Given the description of an element on the screen output the (x, y) to click on. 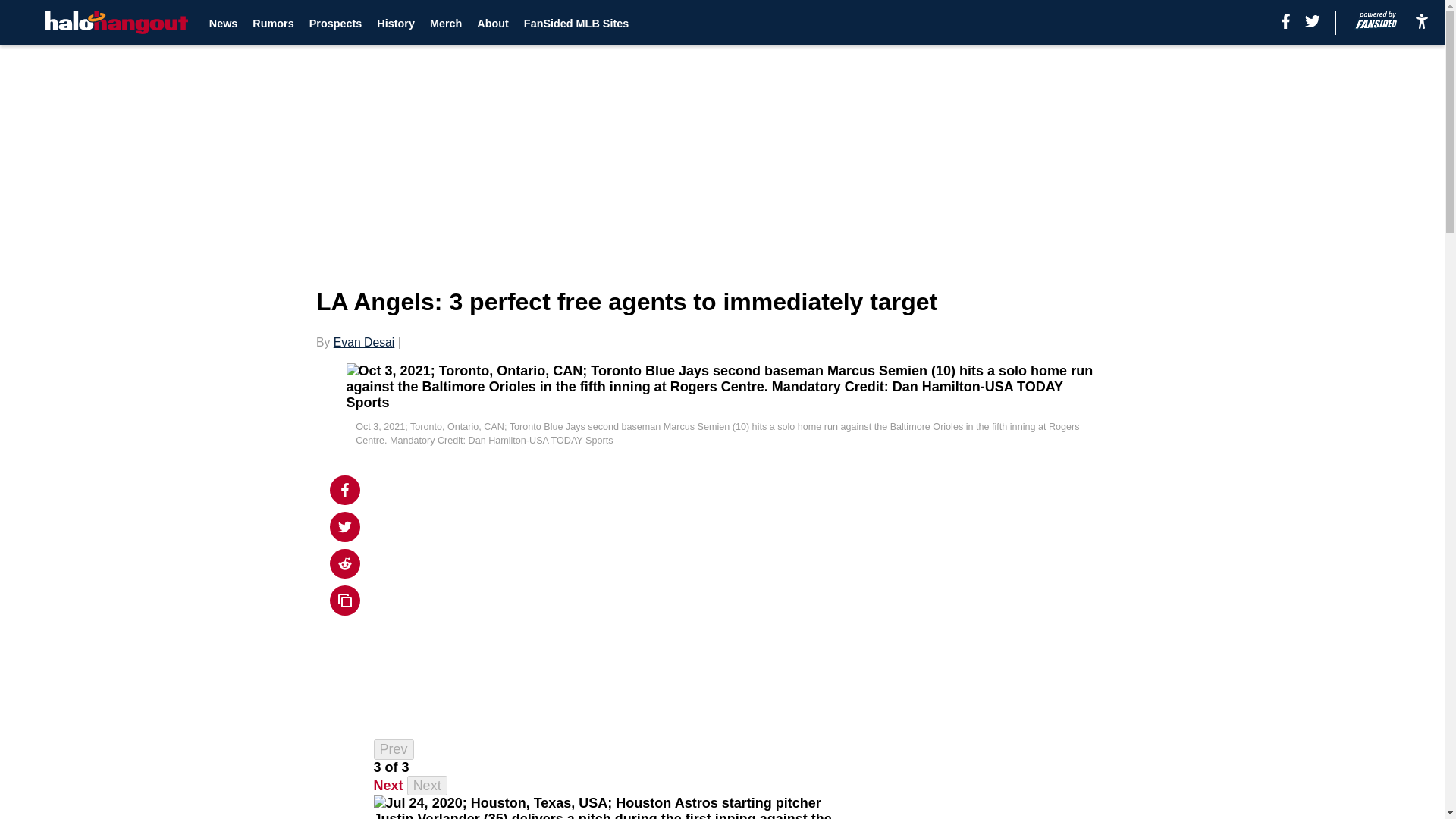
Prev (393, 749)
History (395, 23)
About (492, 23)
Rumors (272, 23)
Prospects (335, 23)
Evan Desai (363, 341)
FanSided MLB Sites (576, 23)
News (223, 23)
Merch (445, 23)
Next (388, 785)
